Given the description of an element on the screen output the (x, y) to click on. 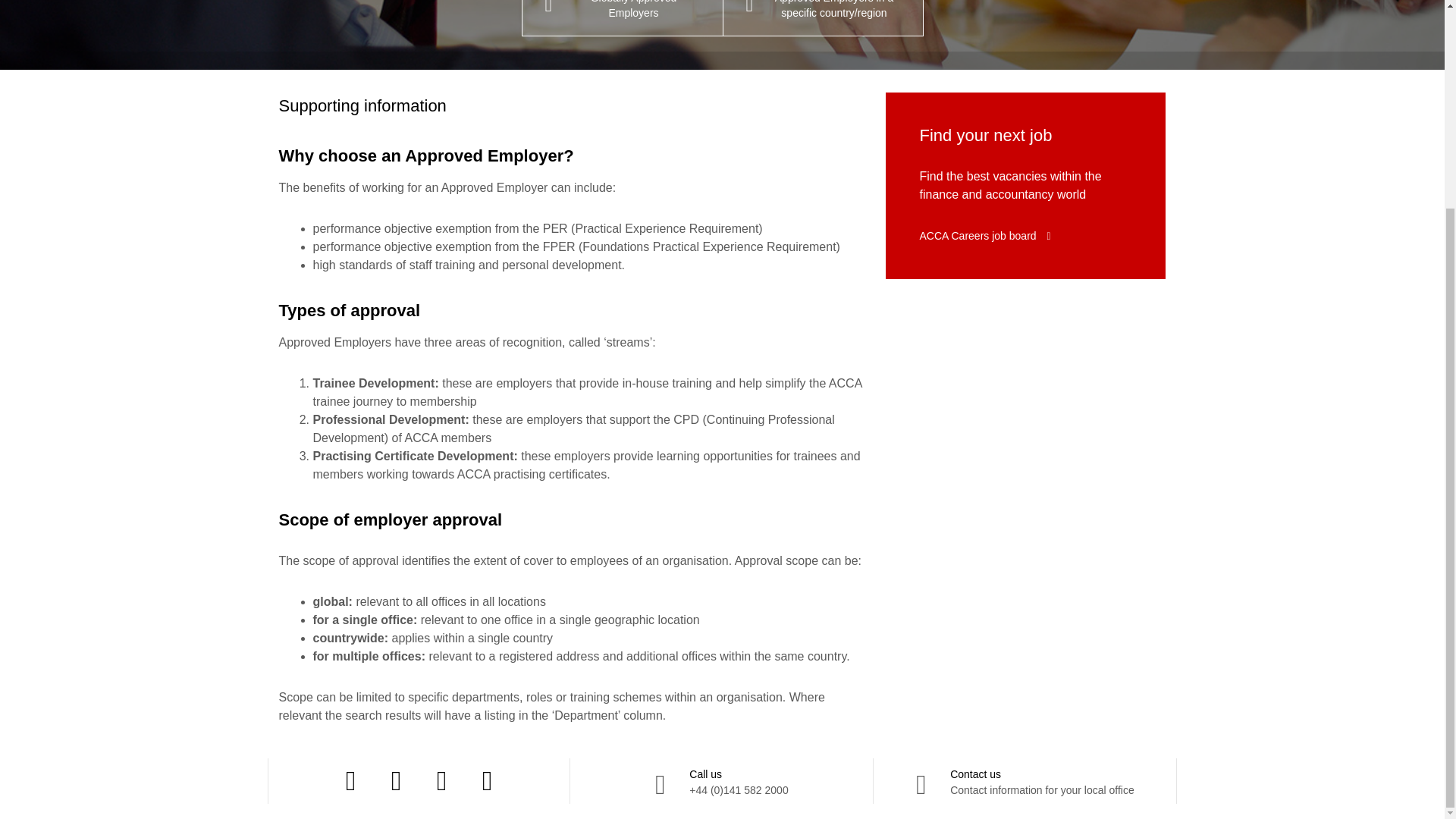
ACCA Careers job board (983, 234)
Globally Approved Employers (621, 17)
Twitter (395, 780)
Facebook (486, 780)
YouTube (1024, 780)
LinkedIn (441, 780)
